Given the description of an element on the screen output the (x, y) to click on. 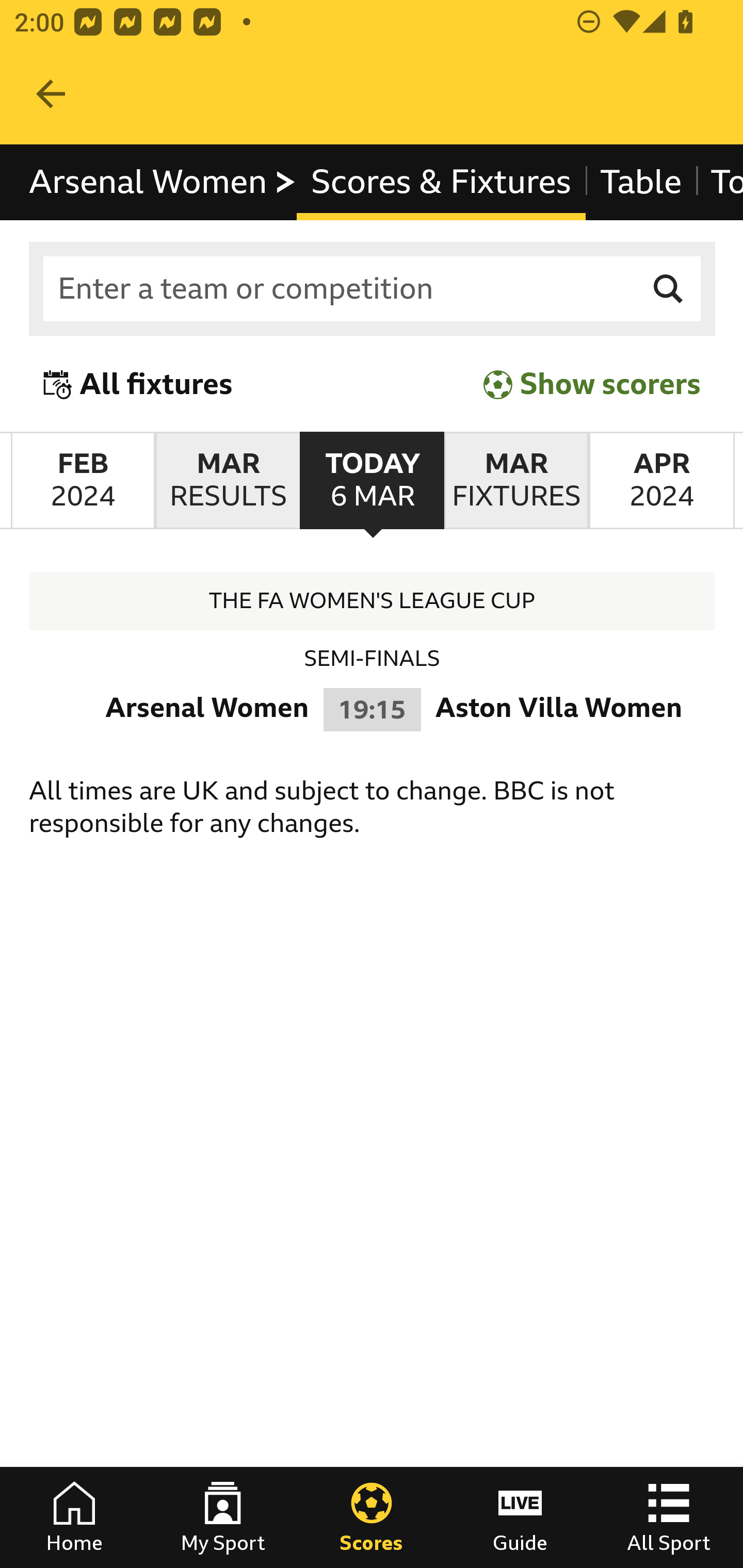
Navigate up (50, 93)
Arsenal Women  (162, 181)
Scores & Fixtures (441, 181)
Table (640, 181)
Search (669, 289)
All fixtures (137, 383)
Show scorers (591, 383)
February2024 February 2024 (83, 480)
MarchRESULTS March RESULTS (227, 480)
MarchFIXTURES March FIXTURES (516, 480)
April2024 April 2024 (661, 480)
Home (74, 1517)
My Sport (222, 1517)
Guide (519, 1517)
All Sport (668, 1517)
